Given the description of an element on the screen output the (x, y) to click on. 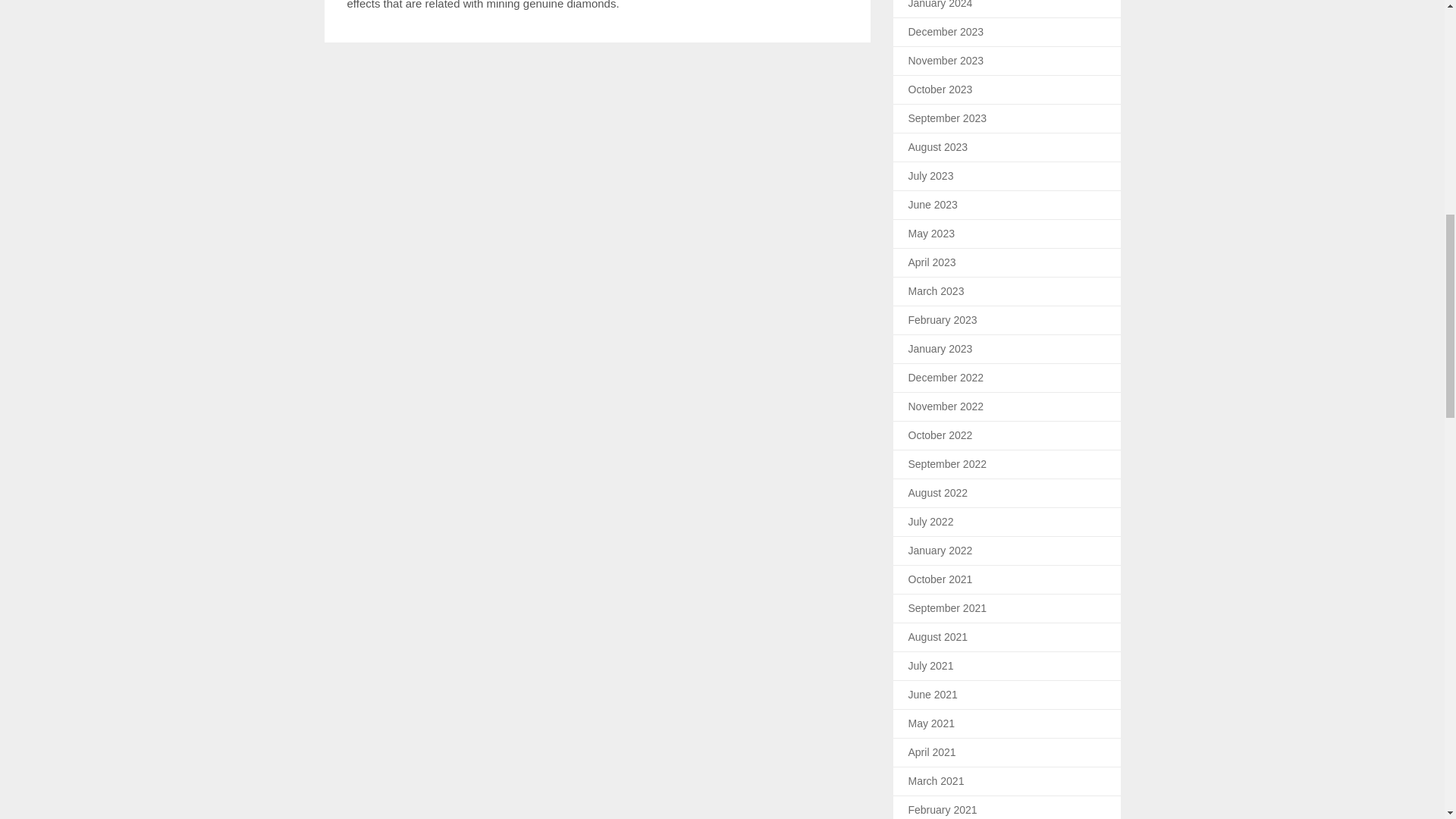
June 2023 (933, 204)
November 2022 (946, 406)
February 2023 (942, 319)
July 2022 (930, 521)
April 2023 (932, 262)
August 2023 (938, 146)
October 2023 (940, 89)
August 2022 (938, 492)
September 2022 (947, 463)
March 2023 (935, 291)
January 2024 (940, 4)
May 2023 (931, 233)
December 2023 (946, 31)
November 2023 (946, 60)
July 2023 (930, 175)
